Given the description of an element on the screen output the (x, y) to click on. 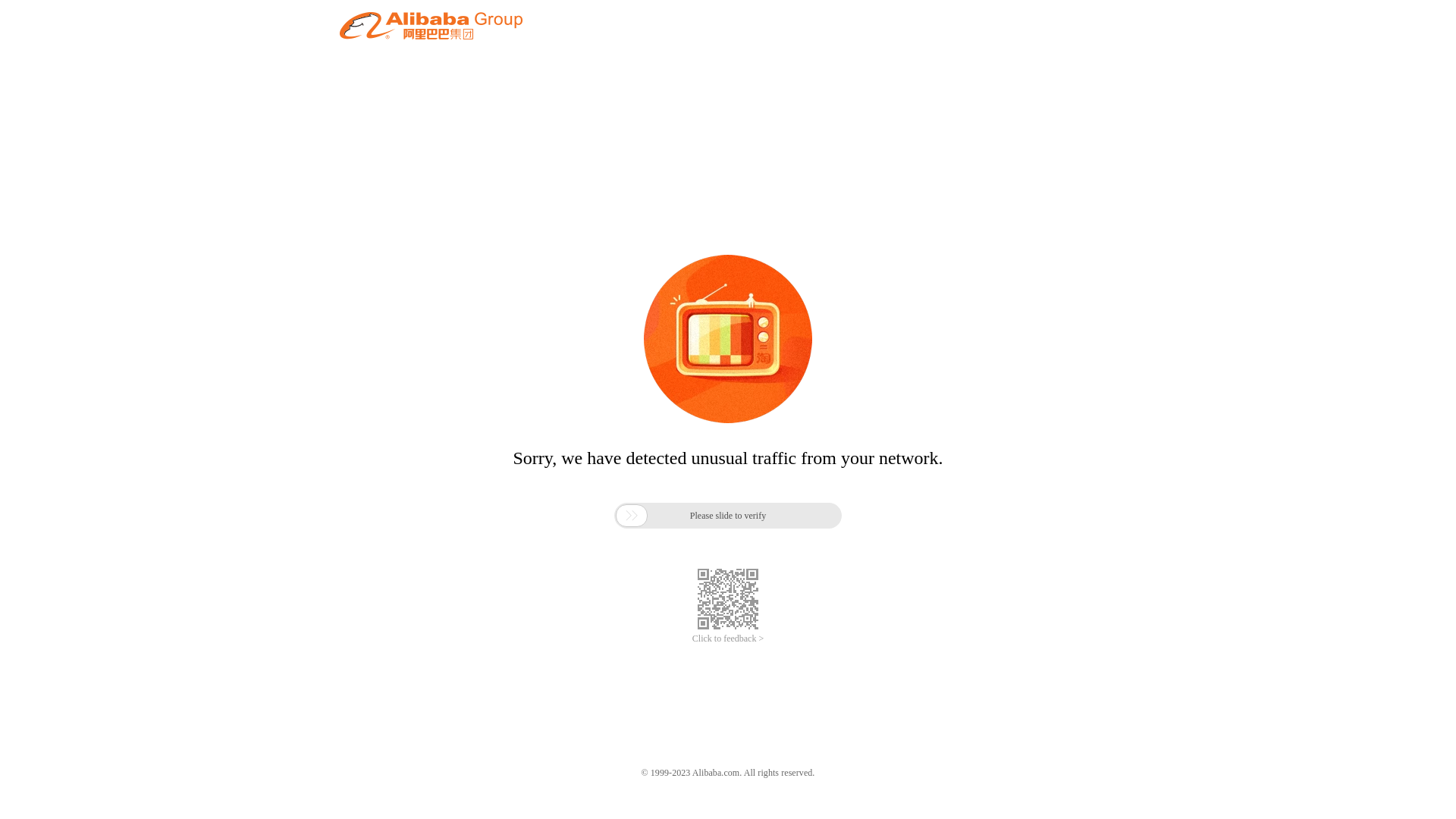
Click to feedback > Element type: text (727, 638)
